Given the description of an element on the screen output the (x, y) to click on. 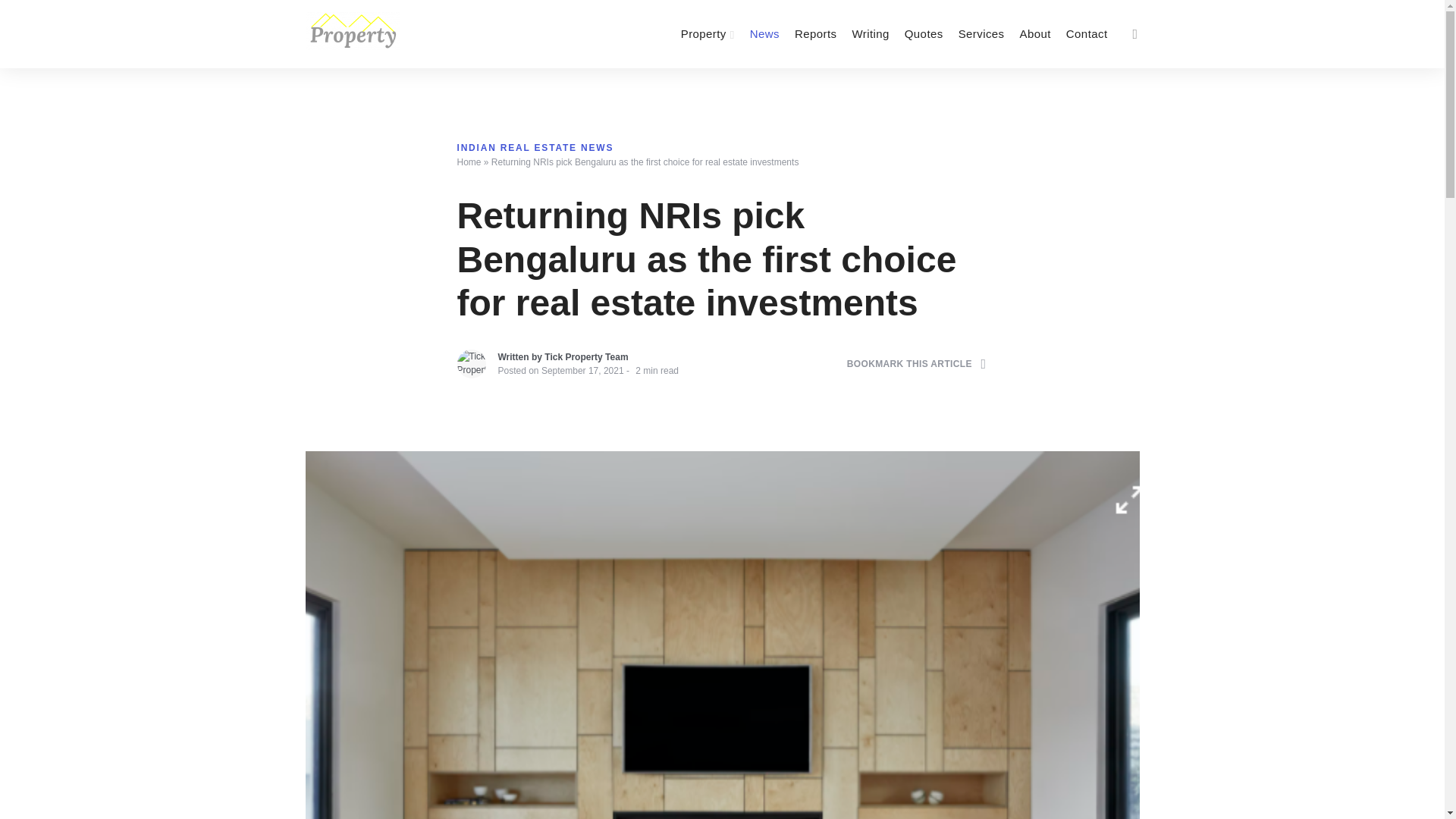
Writing (870, 33)
News (764, 33)
BOOKMARK THIS ARTICLE (916, 369)
About (1034, 33)
INDIAN REAL ESTATE NEWS (534, 140)
About (1034, 33)
Services (980, 33)
Property (707, 33)
September 17, 2021 (582, 376)
Services (980, 33)
Quotes (923, 33)
Contact (1086, 33)
Reports (815, 33)
Reports (815, 33)
Contact (1086, 33)
